Given the description of an element on the screen output the (x, y) to click on. 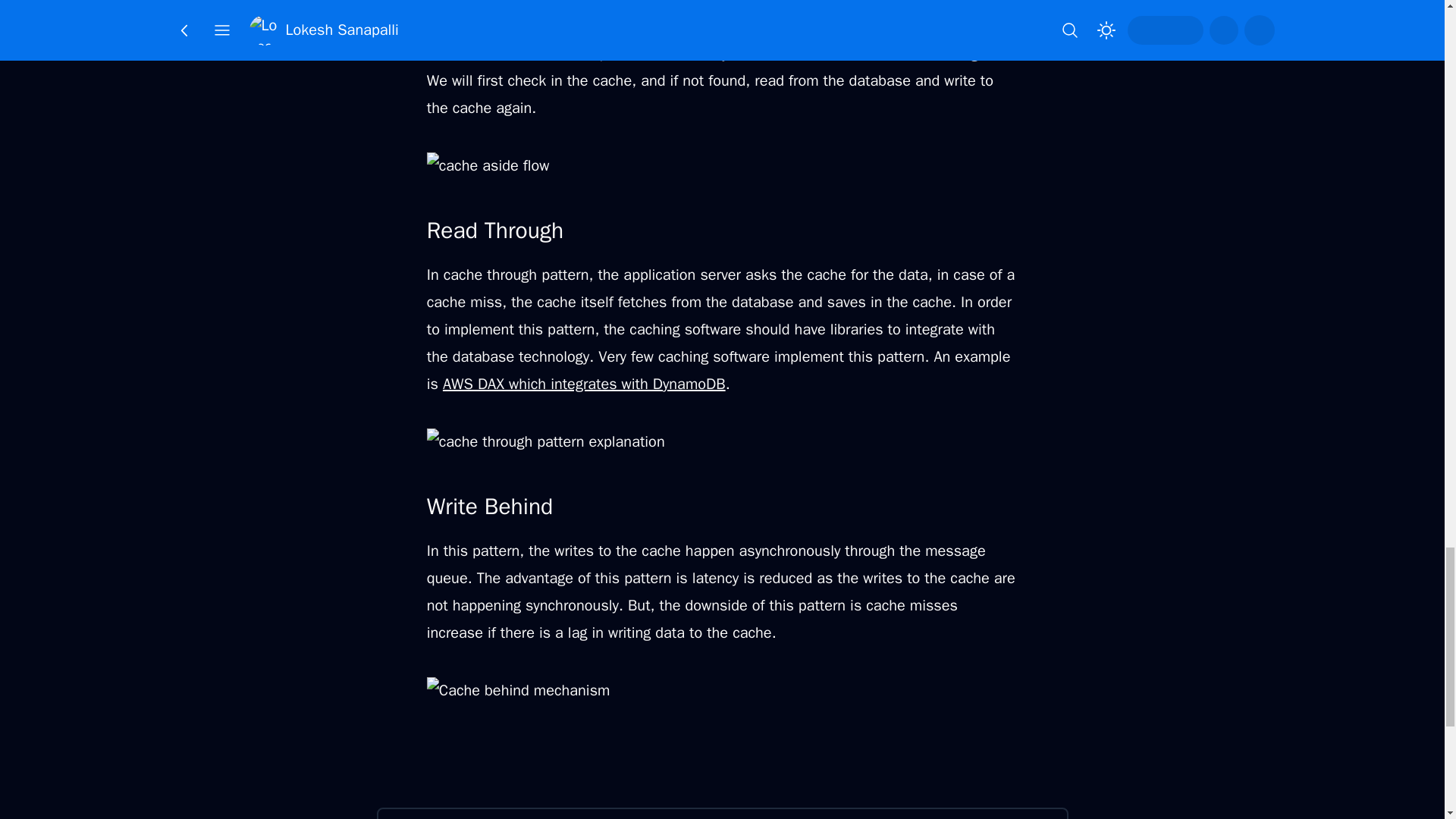
AWS DAX which integrates with DynamoDB (583, 383)
